Given the description of an element on the screen output the (x, y) to click on. 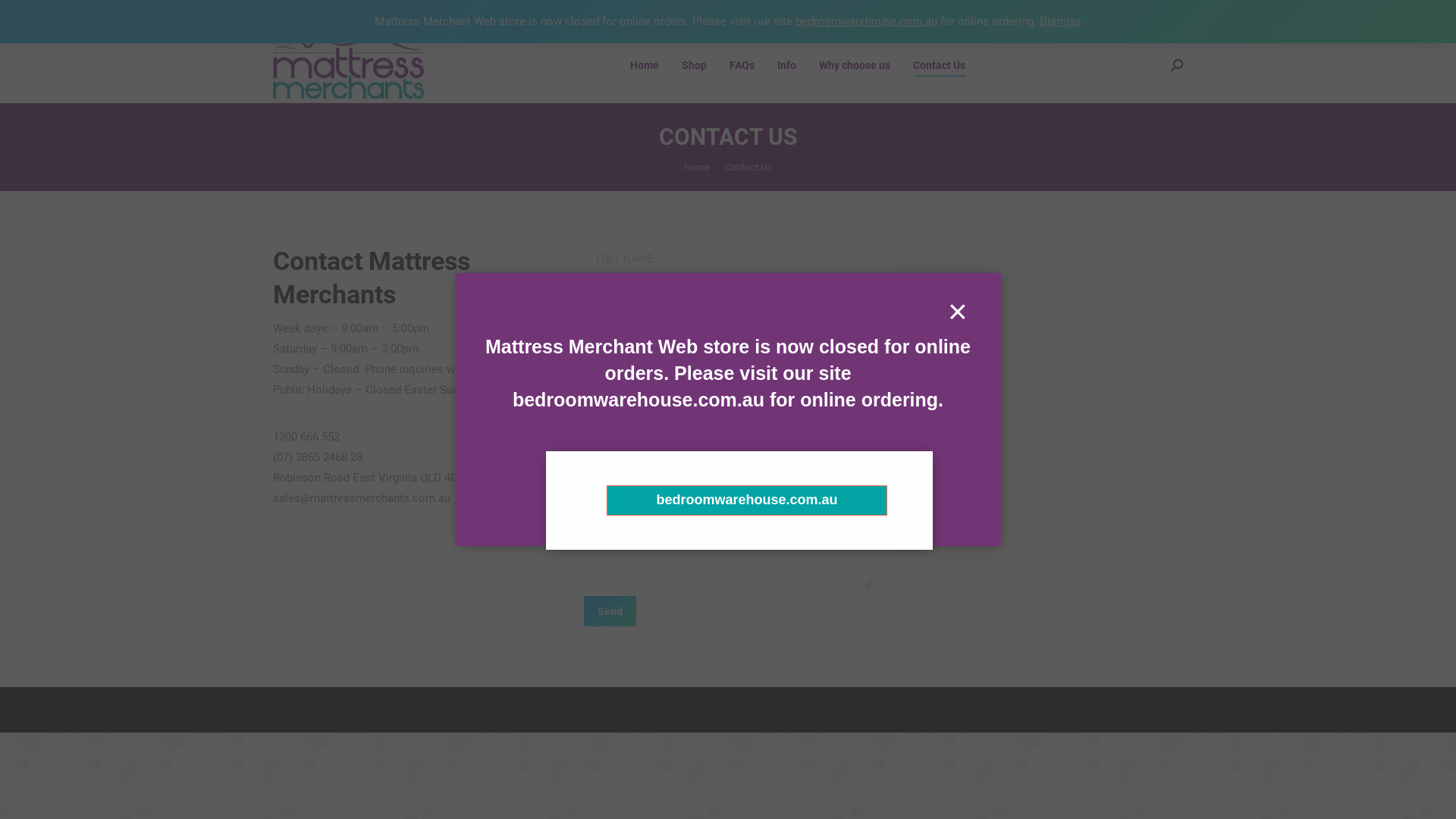
bedroomwarehouse.com.au Element type: text (866, 21)
Facebook page opens in new window Element type: text (1173, 13)
Contact Us Element type: text (938, 64)
Shop Element type: text (694, 64)
Home Element type: text (644, 64)
Send Element type: text (609, 611)
Why choose us Element type: text (853, 64)
FAQs Element type: text (741, 64)
Home Element type: text (696, 166)
Go! Element type: text (23, 16)
bedroomwarehouse.com.au Element type: text (746, 500)
Dismiss Element type: text (1060, 21)
Info Element type: text (786, 64)
